Given the description of an element on the screen output the (x, y) to click on. 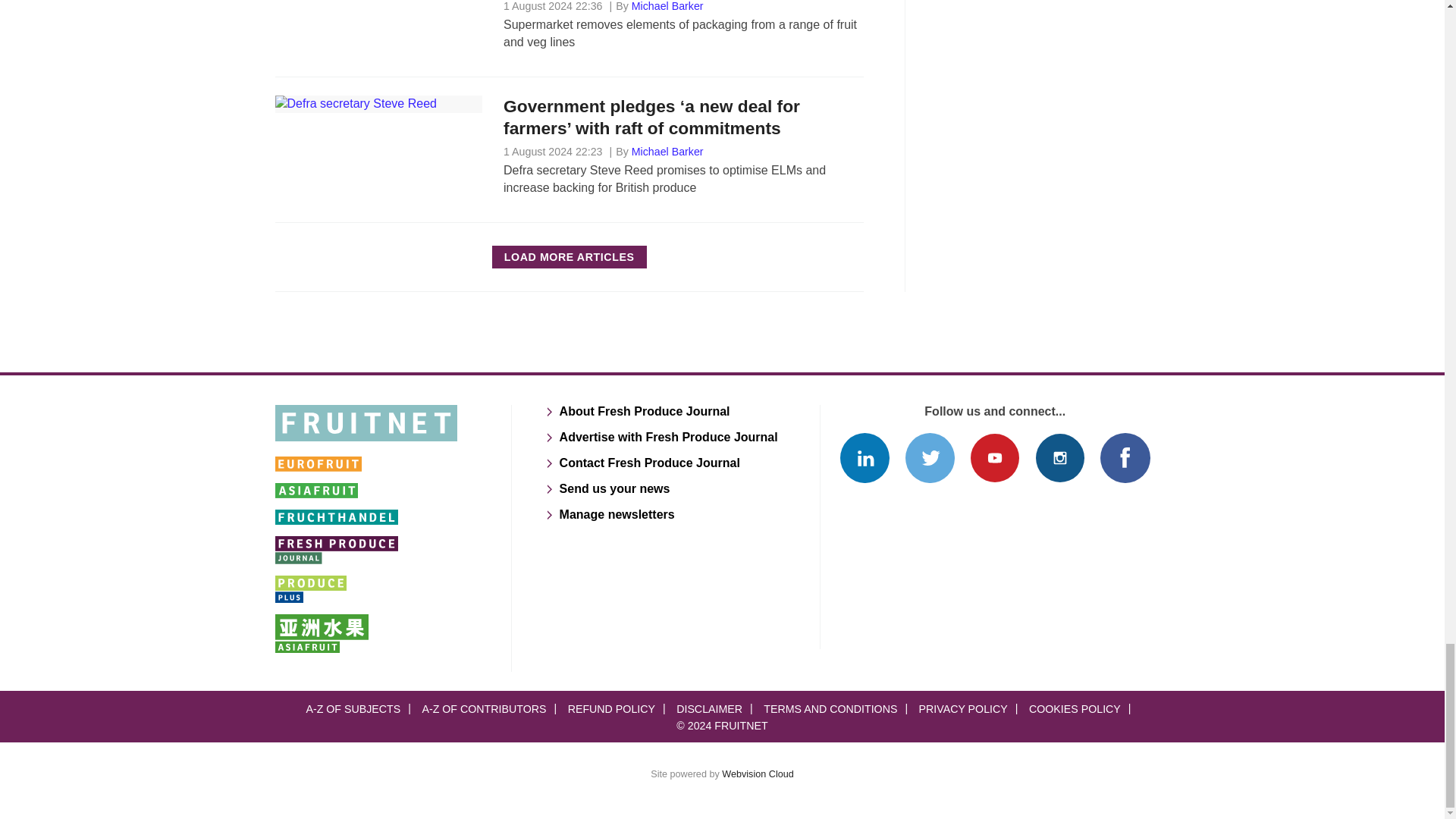
Follow us on Instagram (1059, 457)
Connect with us on Twitter (930, 457)
Follow us on Facebook (1125, 457)
Follow us on Linked In (864, 457)
Connect with us on Youtube (994, 457)
